Given the description of an element on the screen output the (x, y) to click on. 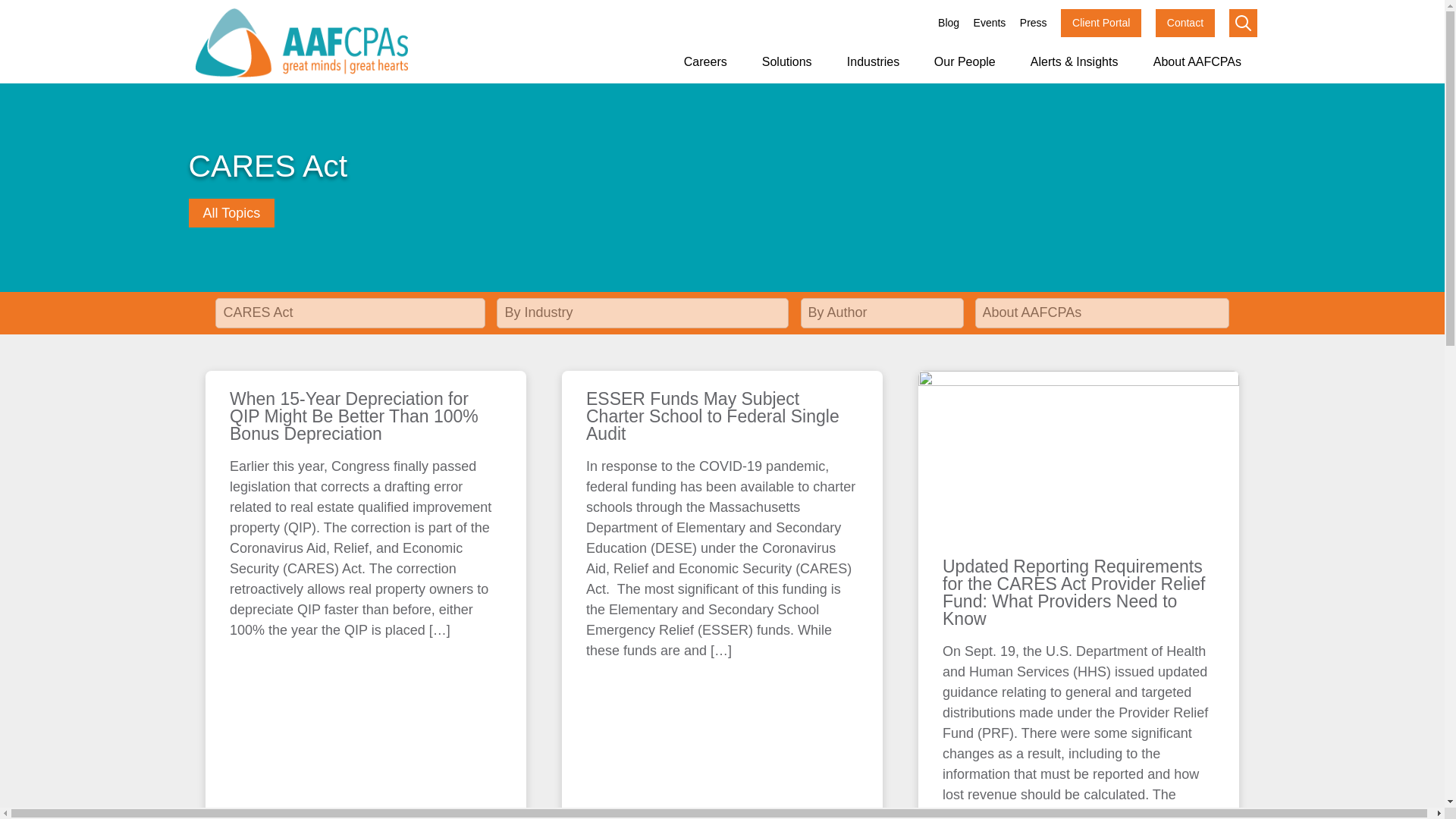
Solutions (786, 61)
Client Portal (1101, 22)
Events (990, 22)
Careers (705, 61)
Contact (1185, 22)
Press (1033, 22)
